Given the description of an element on the screen output the (x, y) to click on. 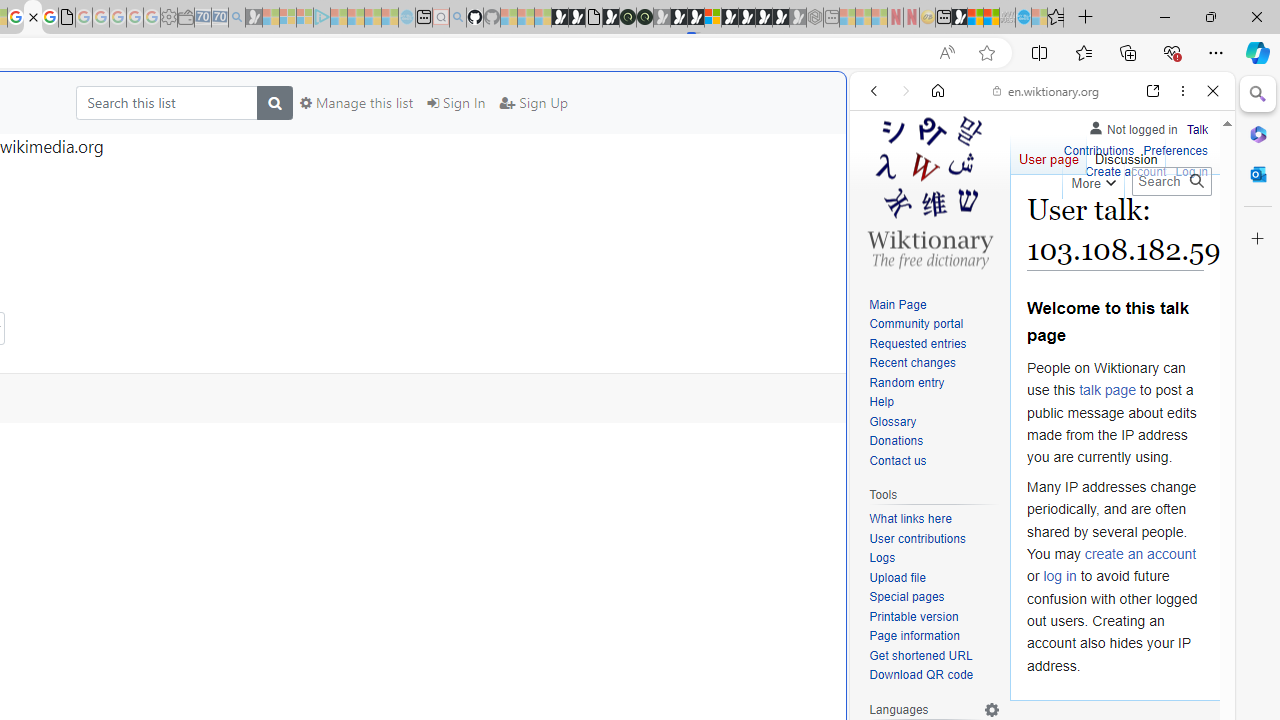
Donations (934, 442)
Services - Maintenance | Sky Blue Bikes - Sky Blue Bikes (1023, 17)
Community portal (934, 324)
Not logged in (1132, 126)
Create account (1125, 172)
Discussion (1125, 154)
Printable version (913, 616)
Log in (1191, 169)
